Given the description of an element on the screen output the (x, y) to click on. 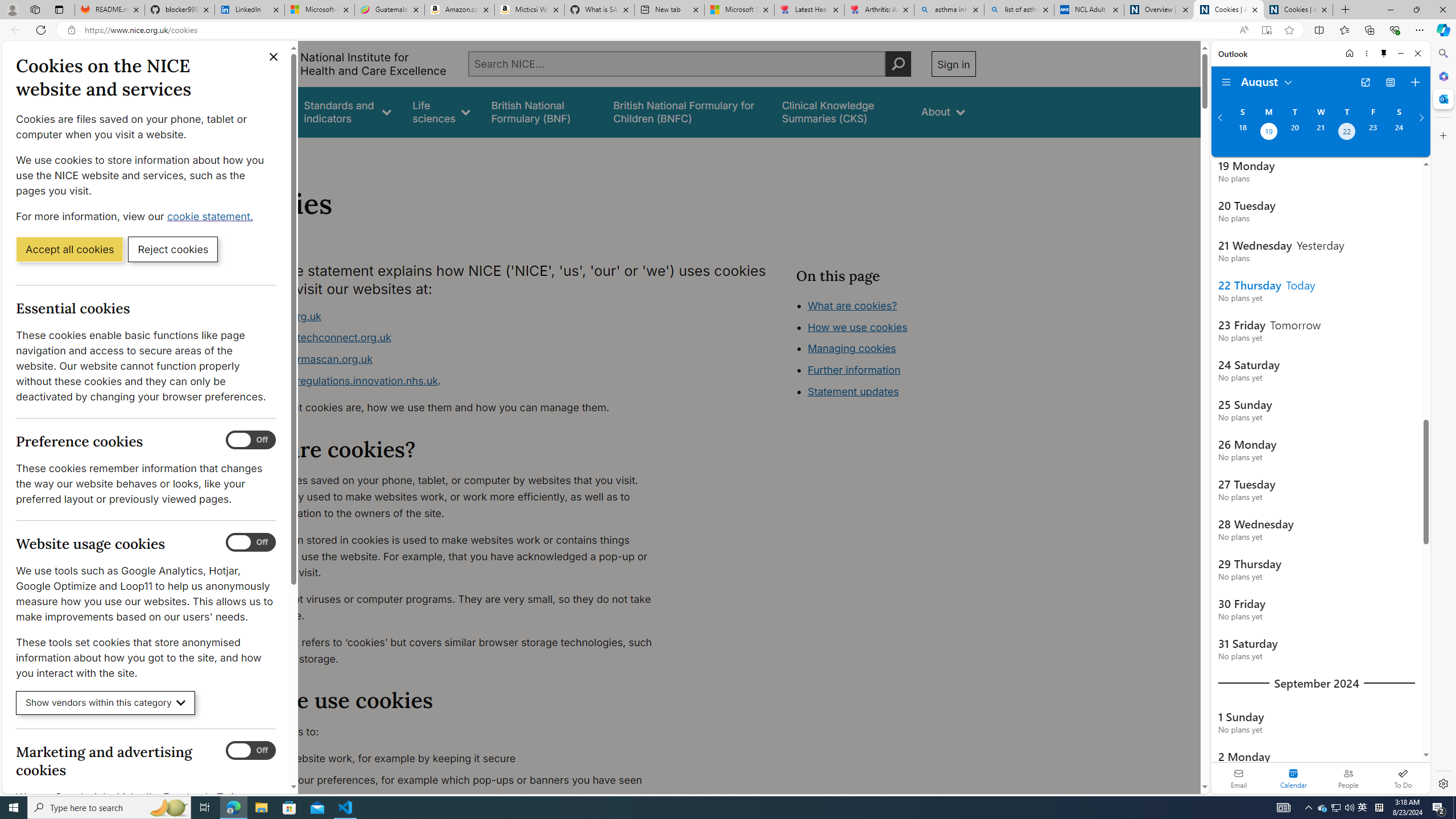
Life sciences (440, 111)
Wednesday, August 21, 2024.  (1320, 132)
Website usage cookies (250, 542)
Thursday, August 22, 2024. Today.  (1346, 132)
www.ukpharmascan.org.uk (452, 359)
www.nice.org.uk (452, 316)
Close cookie banner (273, 56)
